Given the description of an element on the screen output the (x, y) to click on. 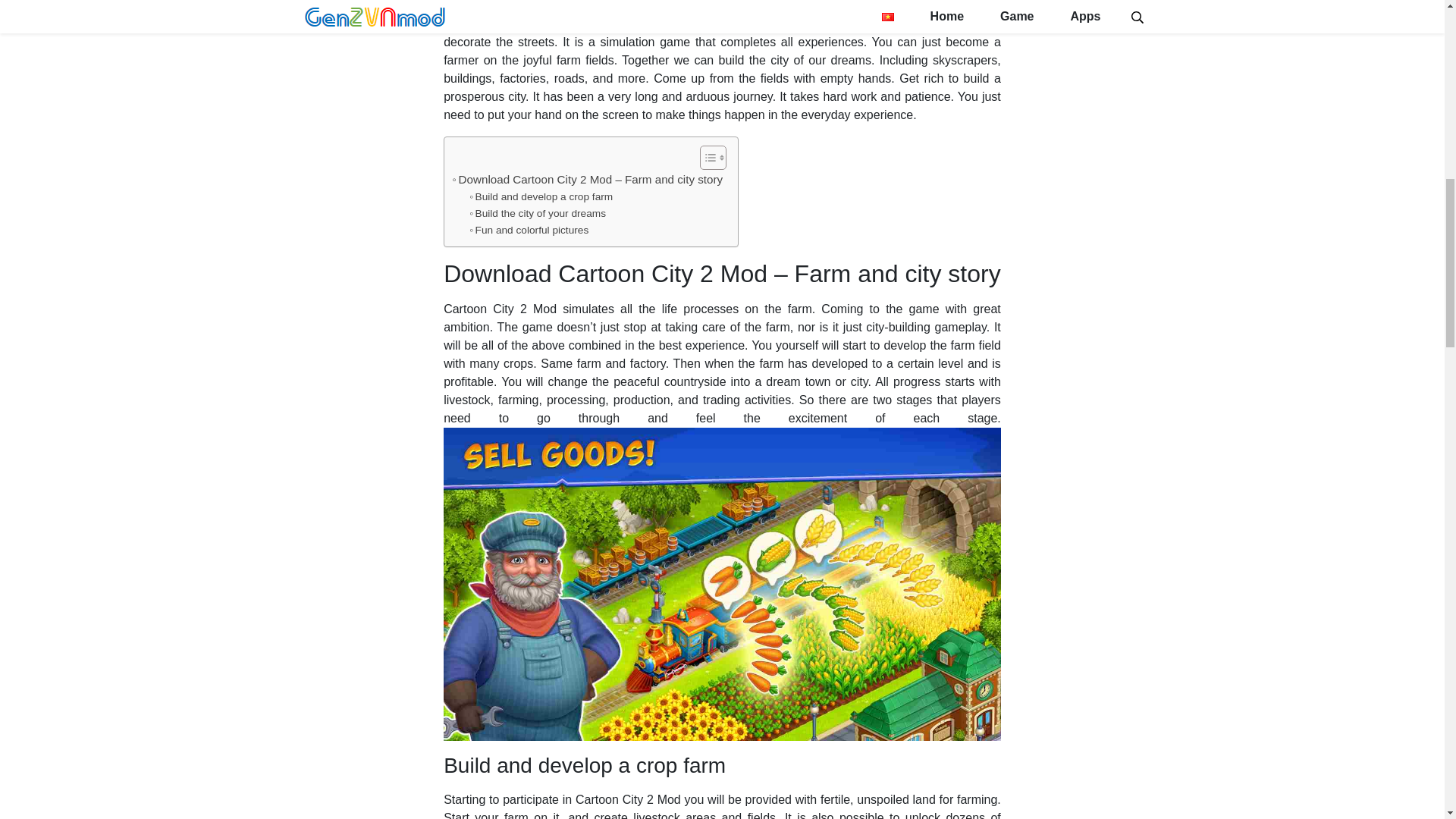
Fun and colorful pictures (528, 230)
Build and develop a crop farm (540, 197)
Fun and colorful pictures (528, 230)
Build the city of your dreams (536, 213)
Build the city of your dreams (536, 213)
Build and develop a crop farm (540, 197)
